Given the description of an element on the screen output the (x, y) to click on. 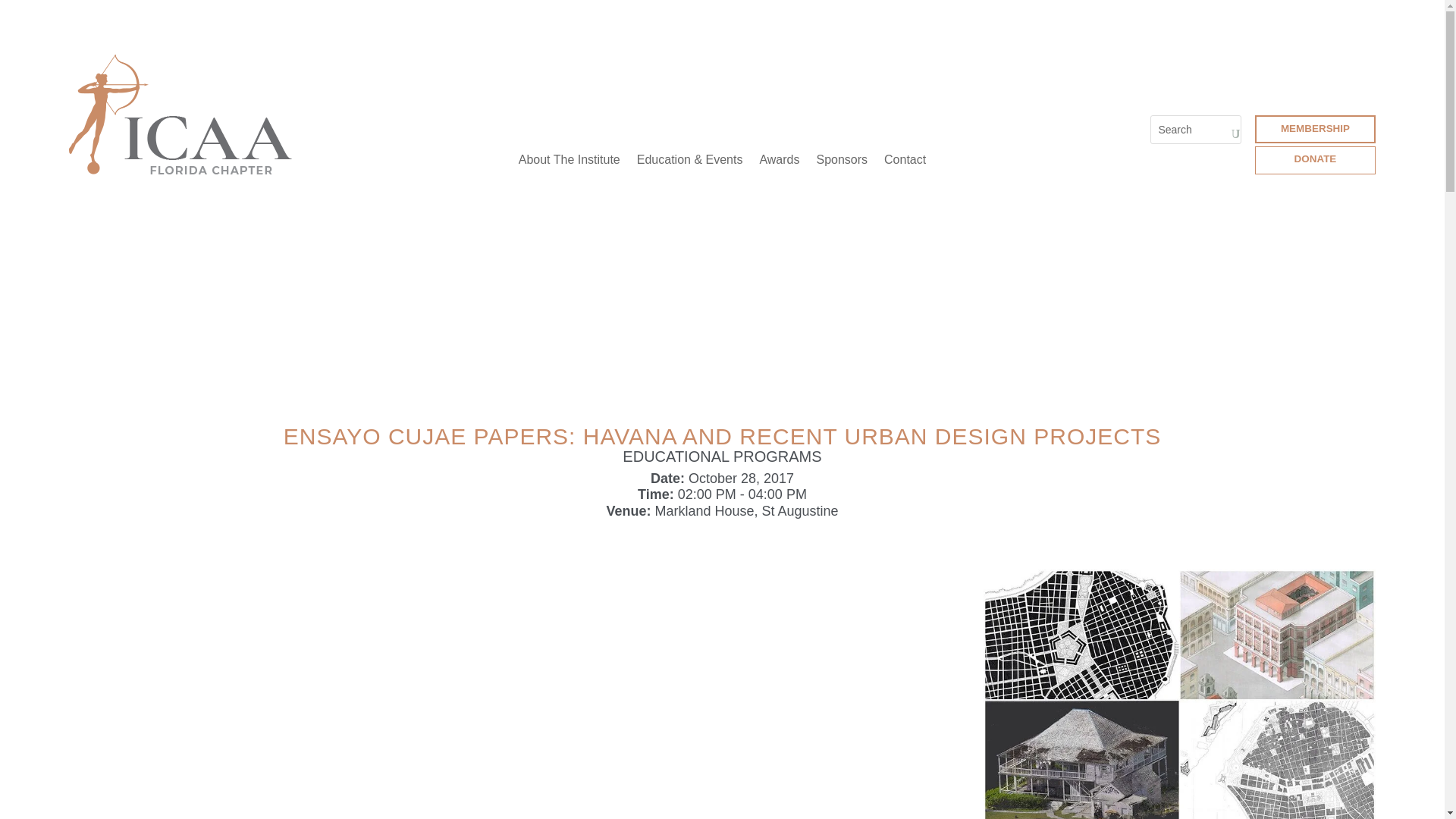
About The Institute (569, 159)
ICAA FLorida Chapter (180, 114)
Sponsors (841, 159)
Contact (904, 159)
Awards (778, 159)
Search (24, 21)
DONATE (1315, 160)
MEMBERSHIP (1315, 129)
Search (24, 13)
